Given the description of an element on the screen output the (x, y) to click on. 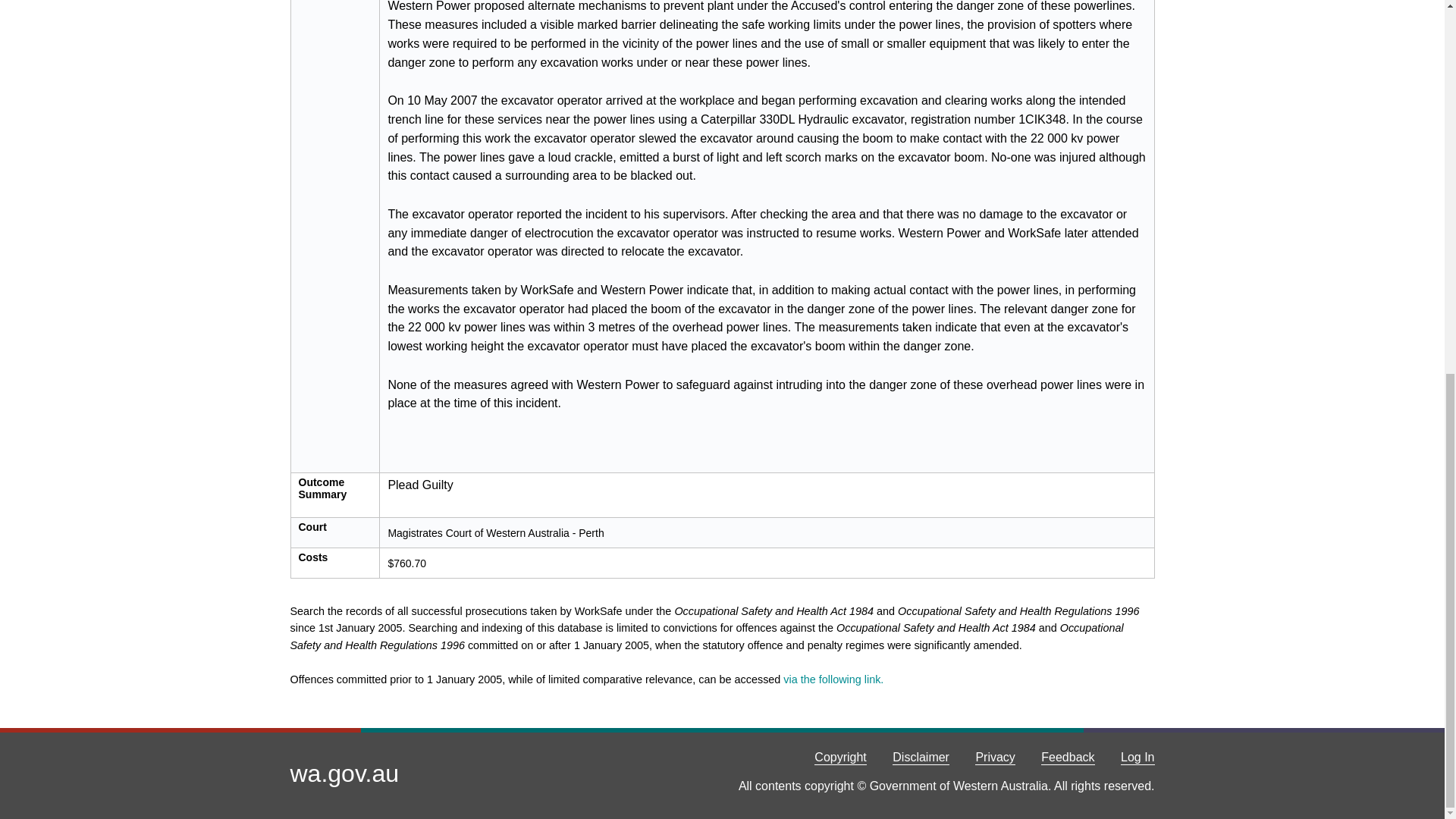
via the following link. (833, 679)
Privacy (994, 757)
Go to the WA Government Online Entry Point (343, 773)
Disclaimer (920, 757)
Log In (1137, 757)
wa.gov.au (343, 773)
Privacy Policy (994, 757)
Feedback (1067, 757)
Copyright (839, 757)
Copyright Policy (839, 757)
Feedback (1067, 757)
Disclaimer (920, 757)
